Given the description of an element on the screen output the (x, y) to click on. 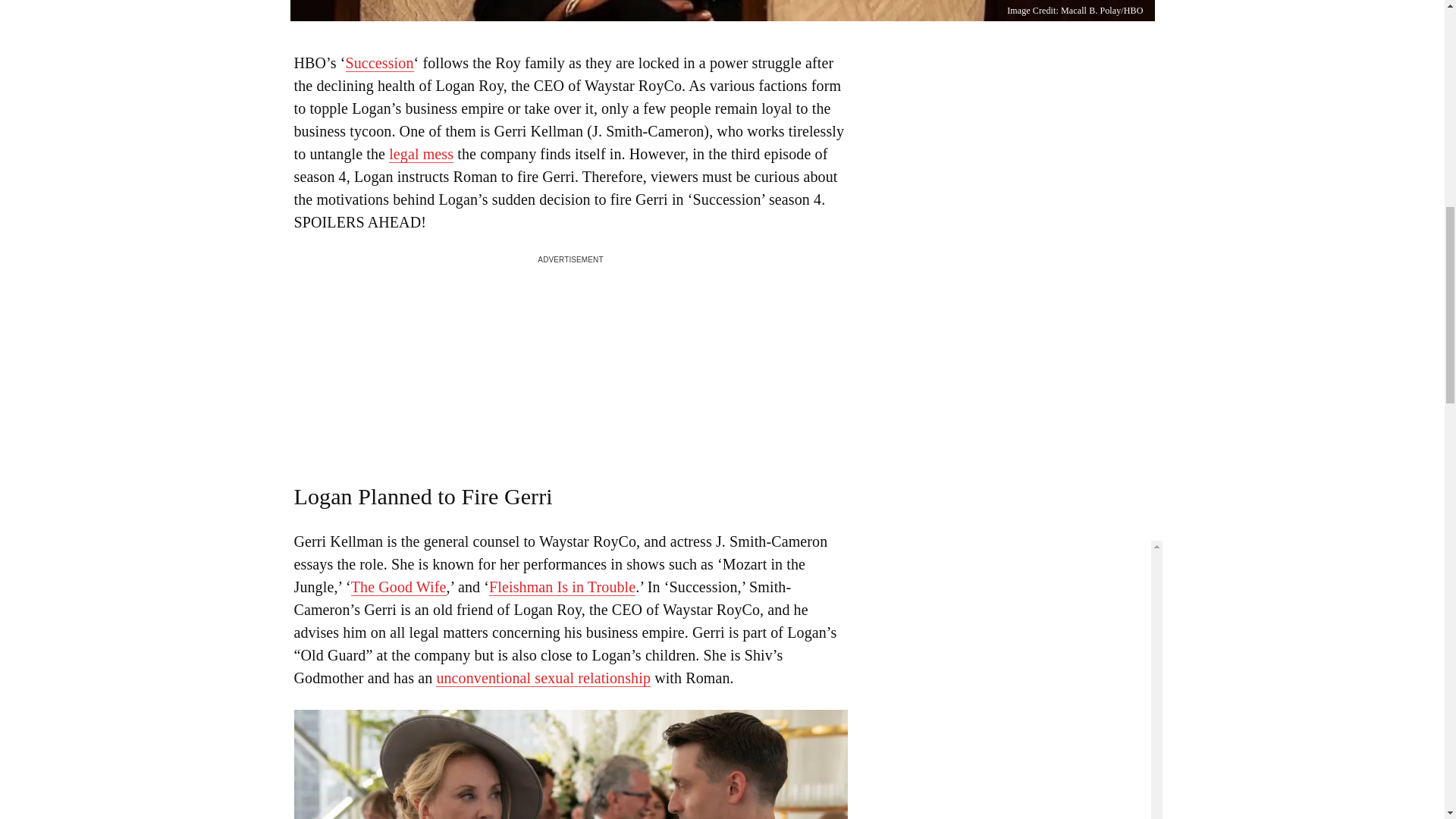
Succession (379, 63)
legal mess (420, 153)
unconventional sexual relationship (542, 678)
The Good Wife (398, 587)
Fleishman Is in Trouble (561, 587)
